Given the description of an element on the screen output the (x, y) to click on. 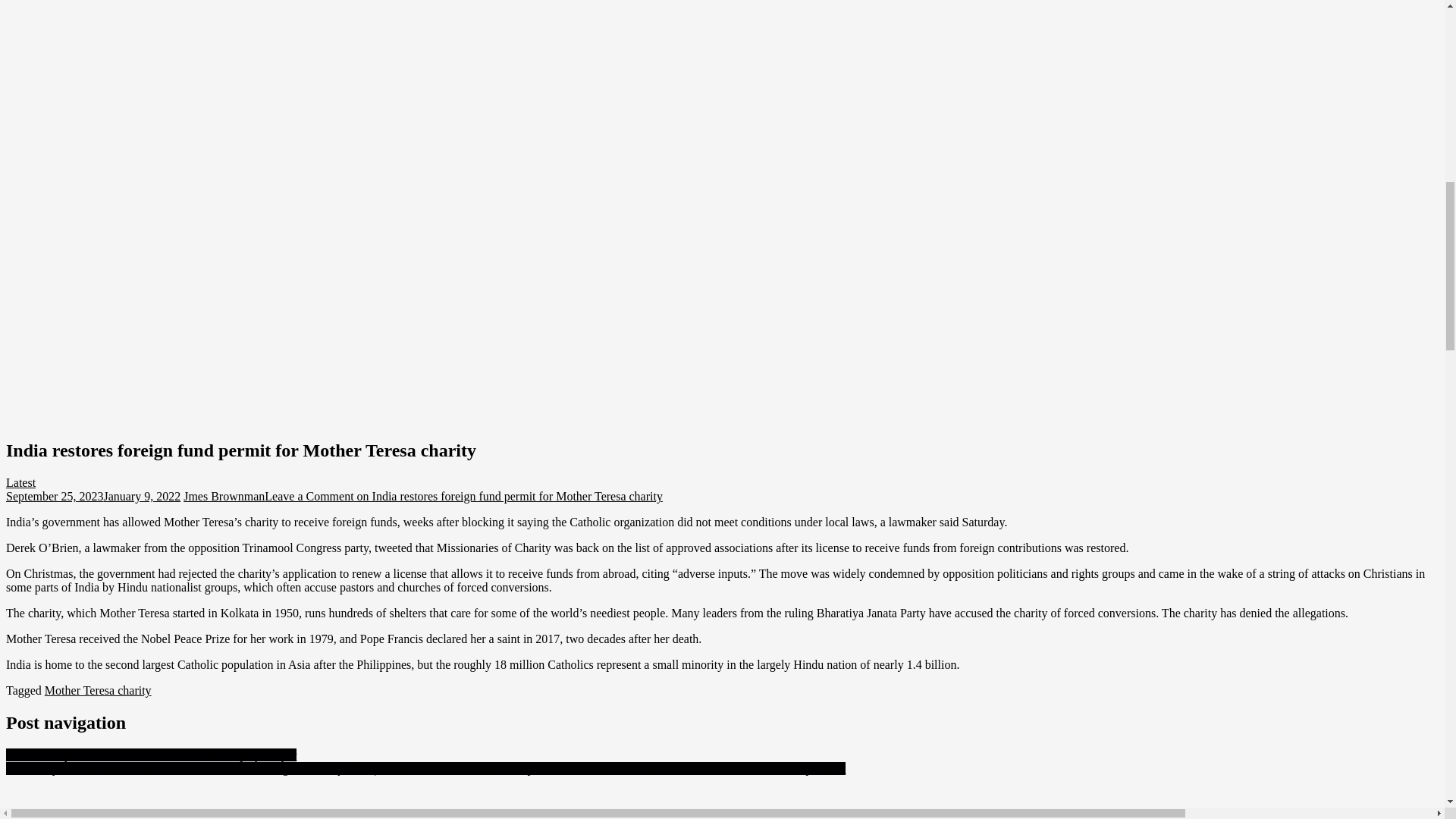
Latest (19, 481)
Jmes Brownman (223, 495)
Mother Teresa charity (98, 689)
September 25, 2023January 9, 2022 (92, 495)
Must-have qualities to watch out for in a bankruptcy lawyer (151, 754)
